Given the description of an element on the screen output the (x, y) to click on. 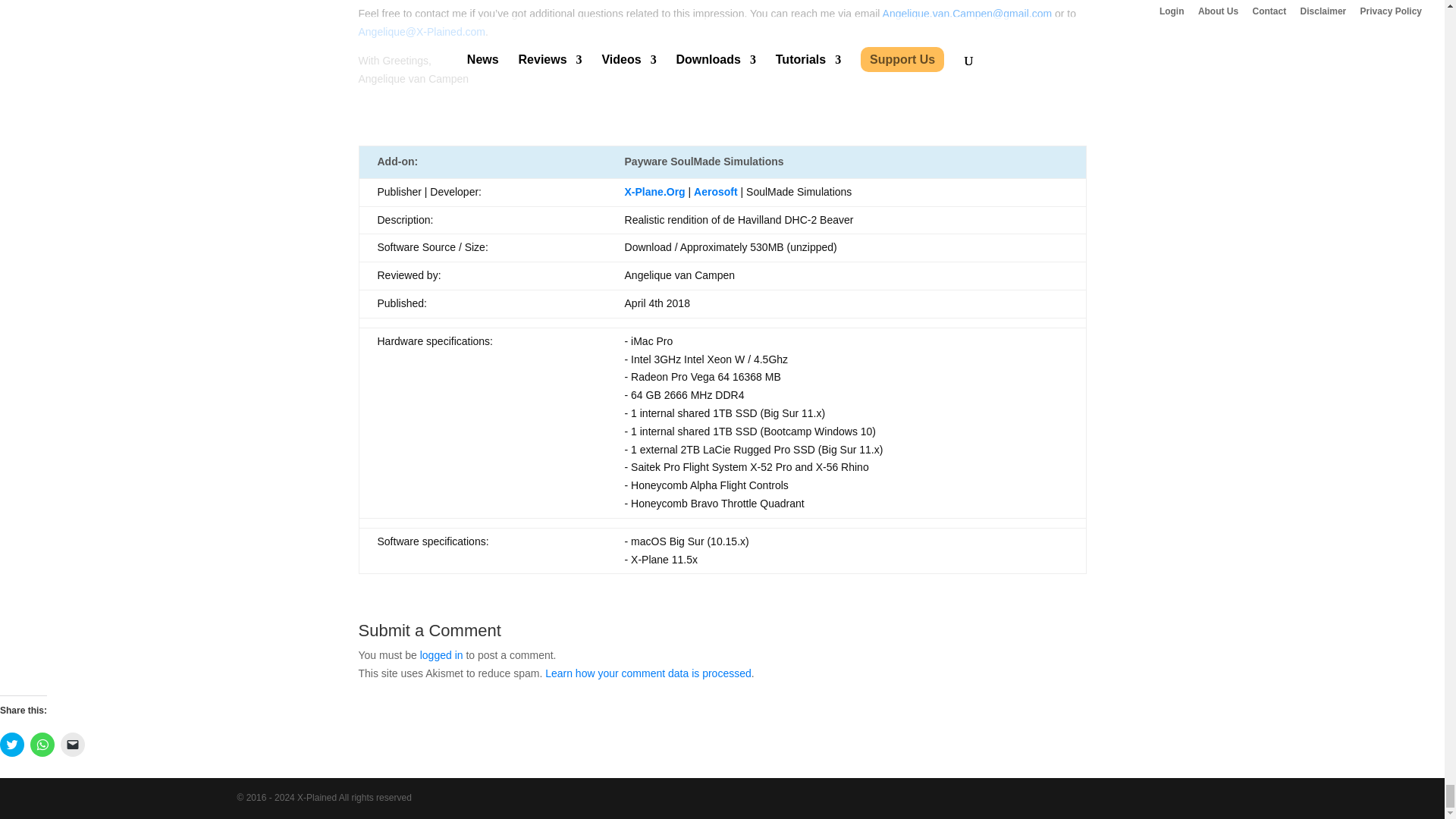
Click to email a link to a friend (72, 744)
Click to share on Twitter (12, 744)
Click to share on WhatsApp (42, 744)
